Given the description of an element on the screen output the (x, y) to click on. 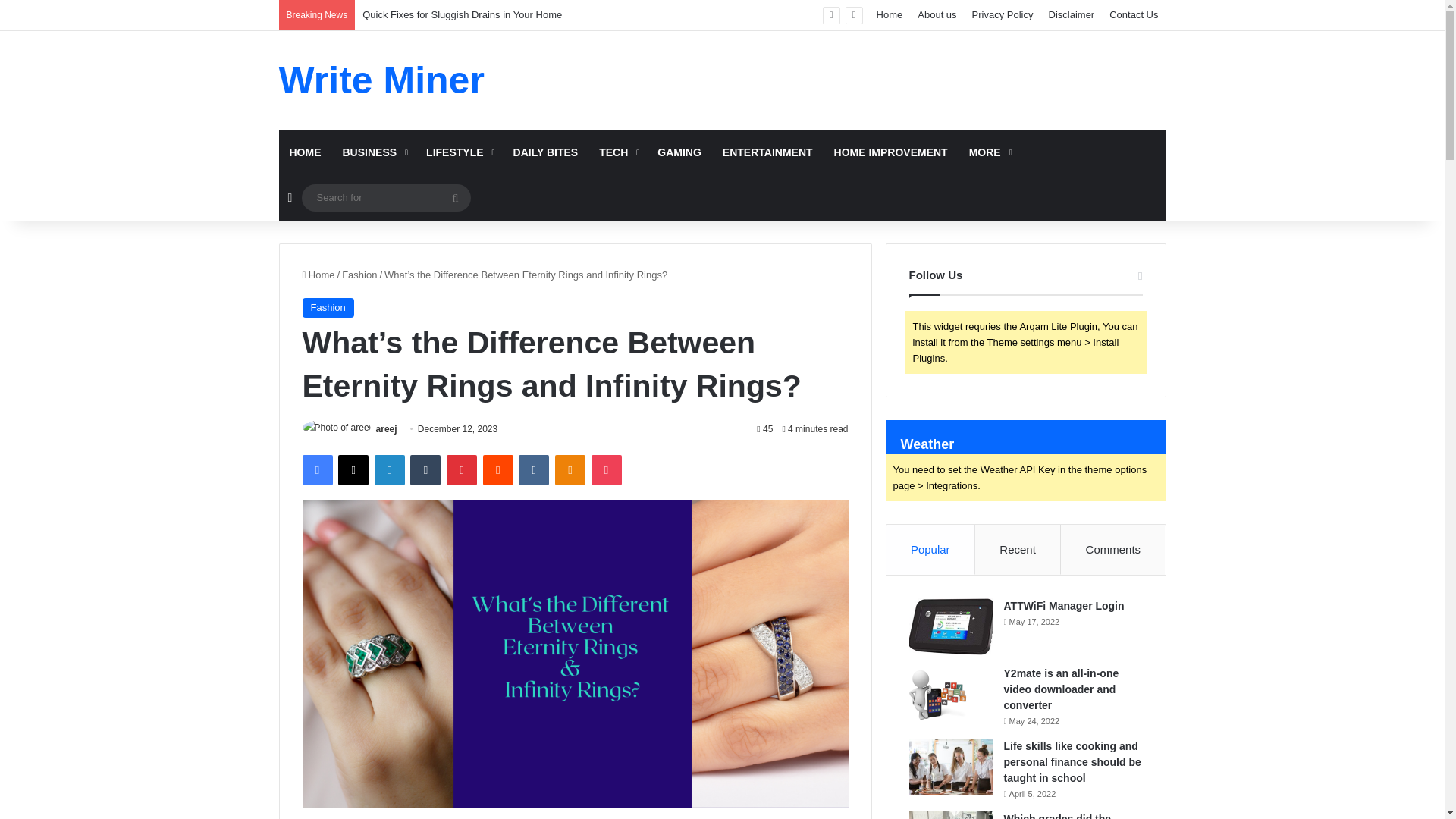
Pocket (606, 470)
Contact Us (1134, 15)
HOME (305, 152)
Tumblr (425, 470)
Disclaimer (1071, 15)
X (352, 470)
Quick Fixes for Sluggish Drains in Your Home (462, 14)
Write Miner (381, 80)
Reddit (498, 470)
HOME IMPROVEMENT (891, 152)
Odnoklassniki (569, 470)
ENTERTAINMENT (767, 152)
LIFESTYLE (458, 152)
MORE (989, 152)
LinkedIn (389, 470)
